Given the description of an element on the screen output the (x, y) to click on. 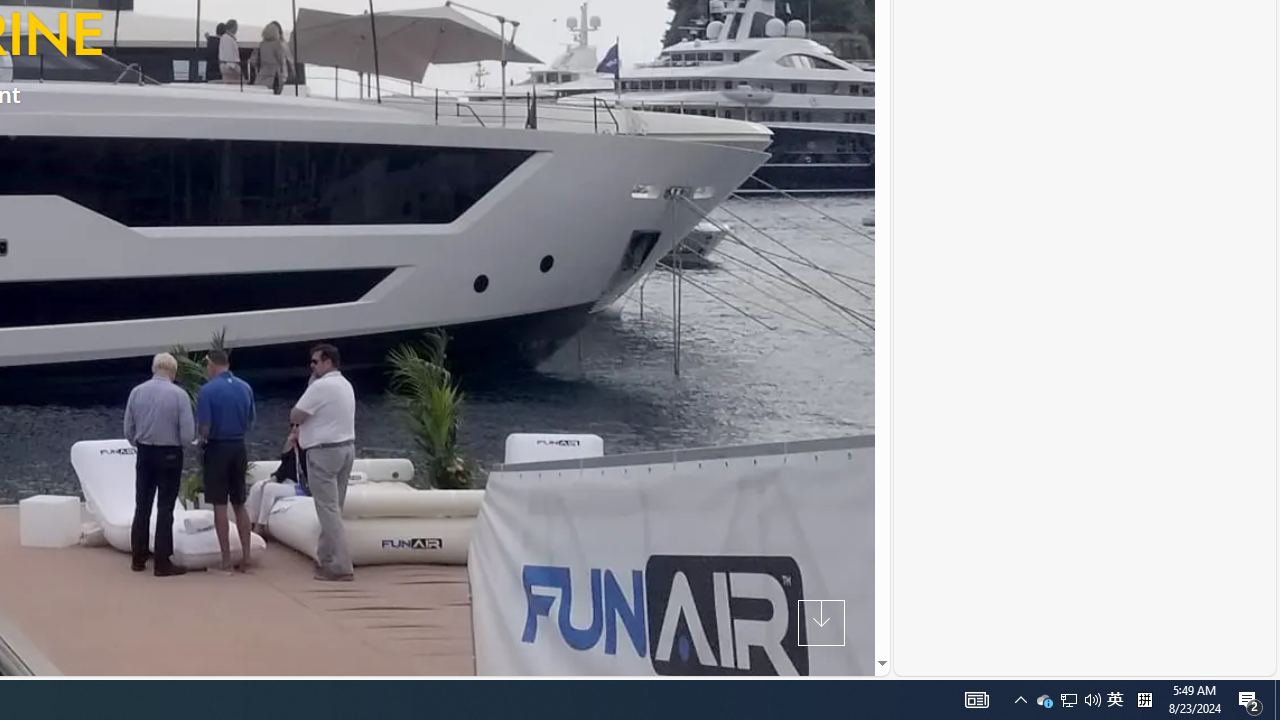
Next Section (820, 622)
